Given the description of an element on the screen output the (x, y) to click on. 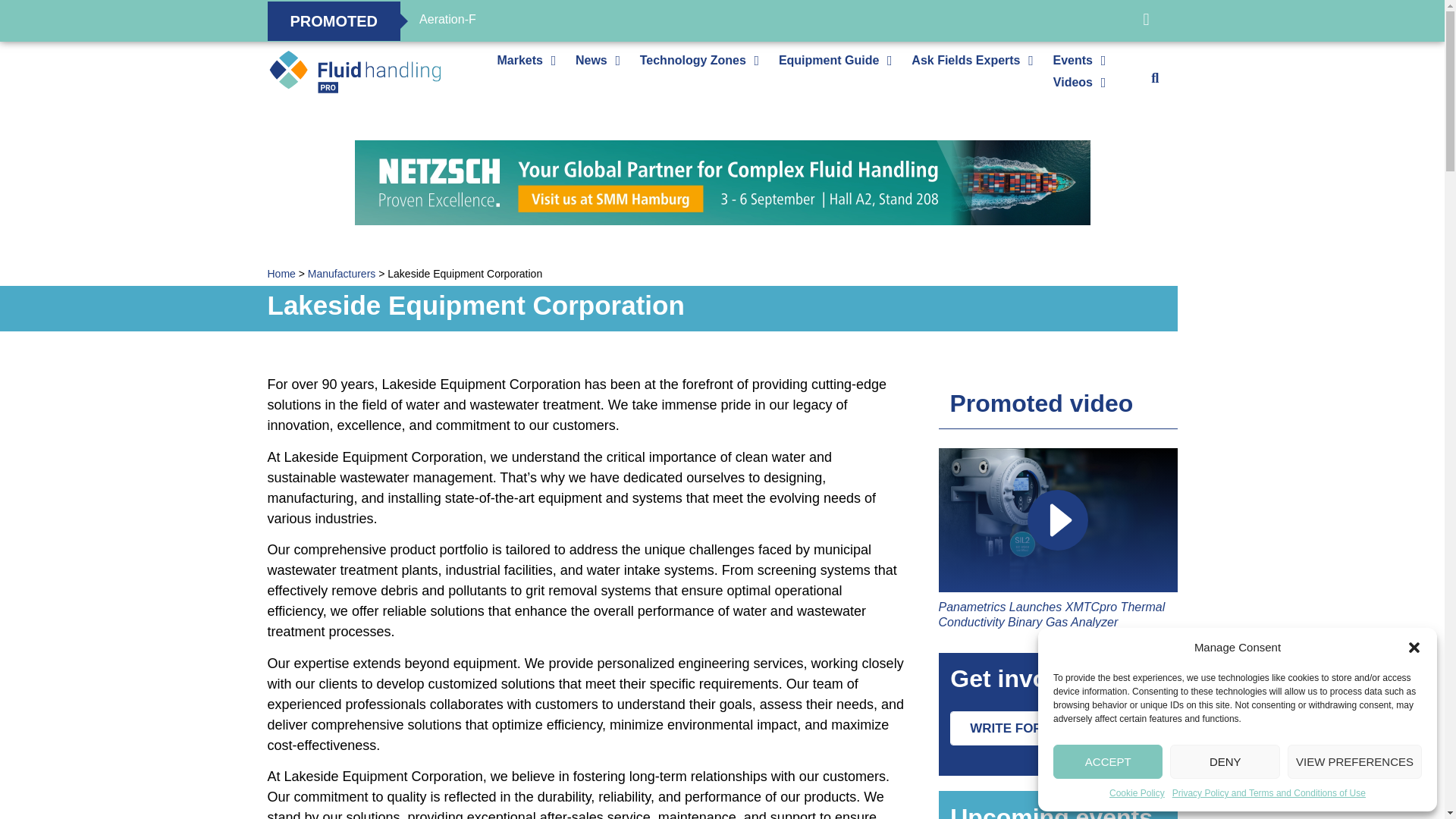
DENY (1224, 761)
ACCEPT (1106, 761)
VIEW PREFERENCES (1354, 761)
Aeration-F (447, 19)
Privacy Policy and Terms and Conditions of Use (1268, 793)
Cookie Policy (1136, 793)
Markets (518, 60)
